Given the description of an element on the screen output the (x, y) to click on. 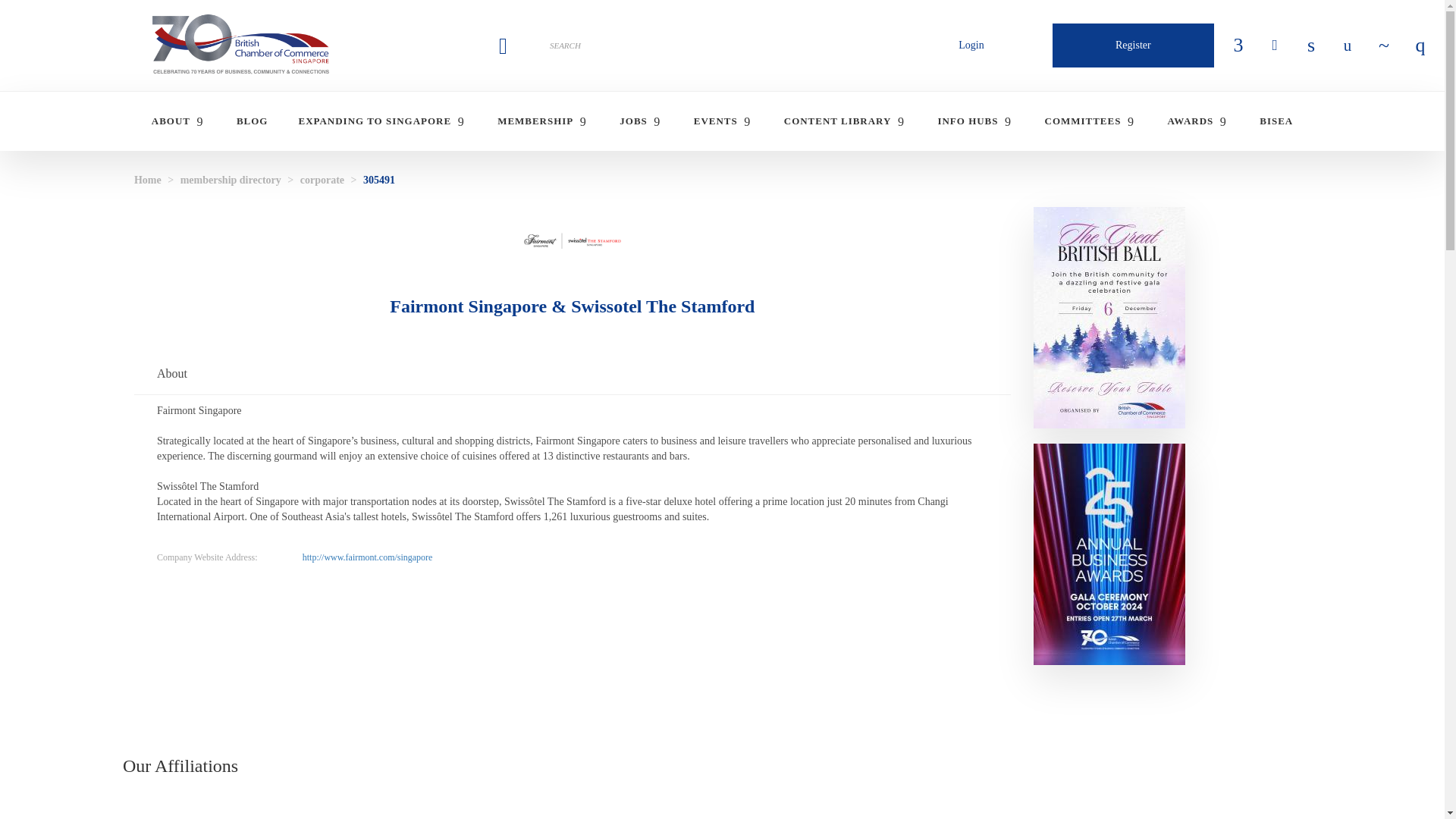
Home (240, 45)
Register (1133, 45)
BLOG (252, 121)
Login (970, 45)
